Given the description of an element on the screen output the (x, y) to click on. 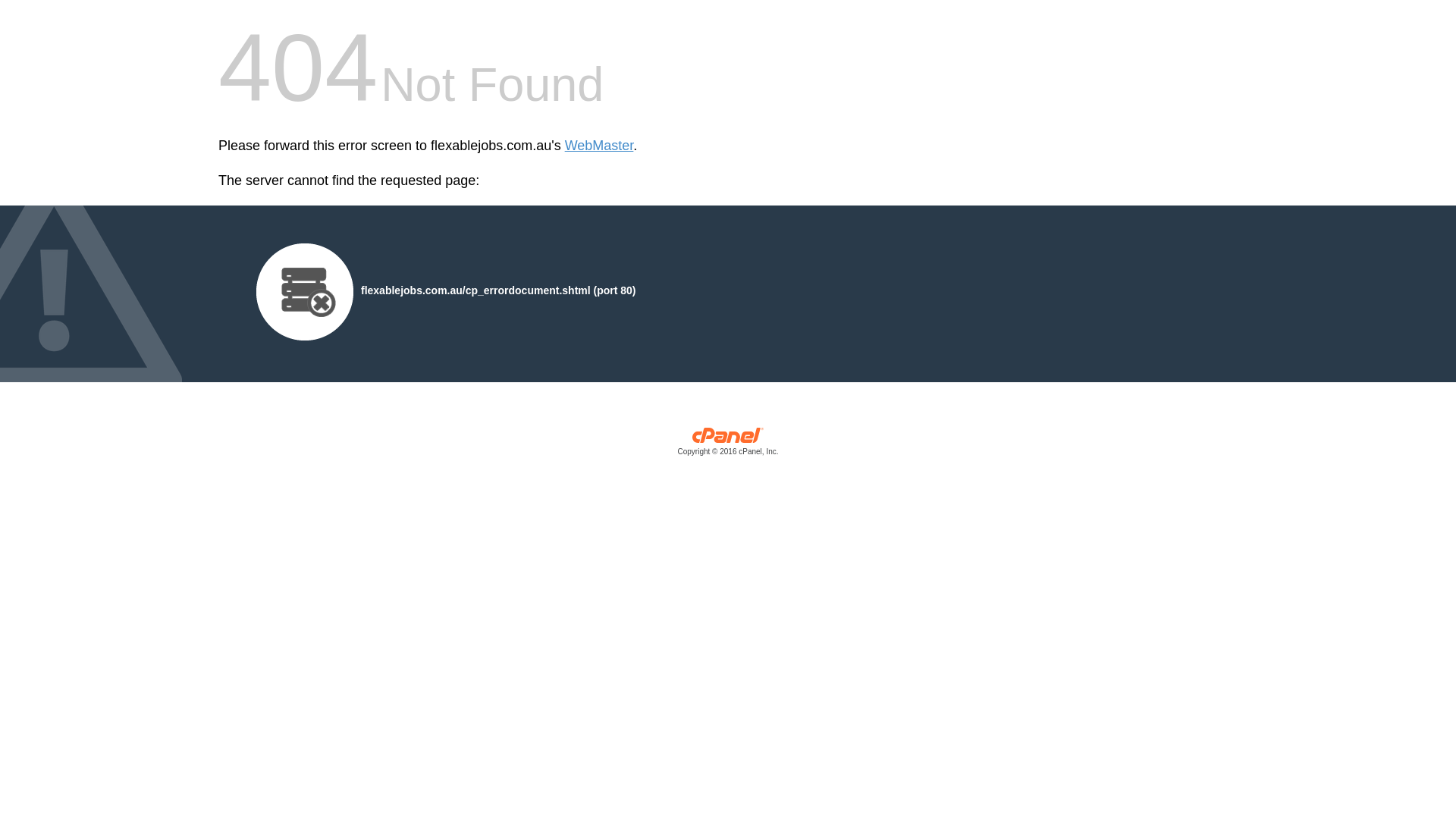
WebMaster Element type: text (598, 145)
